Given the description of an element on the screen output the (x, y) to click on. 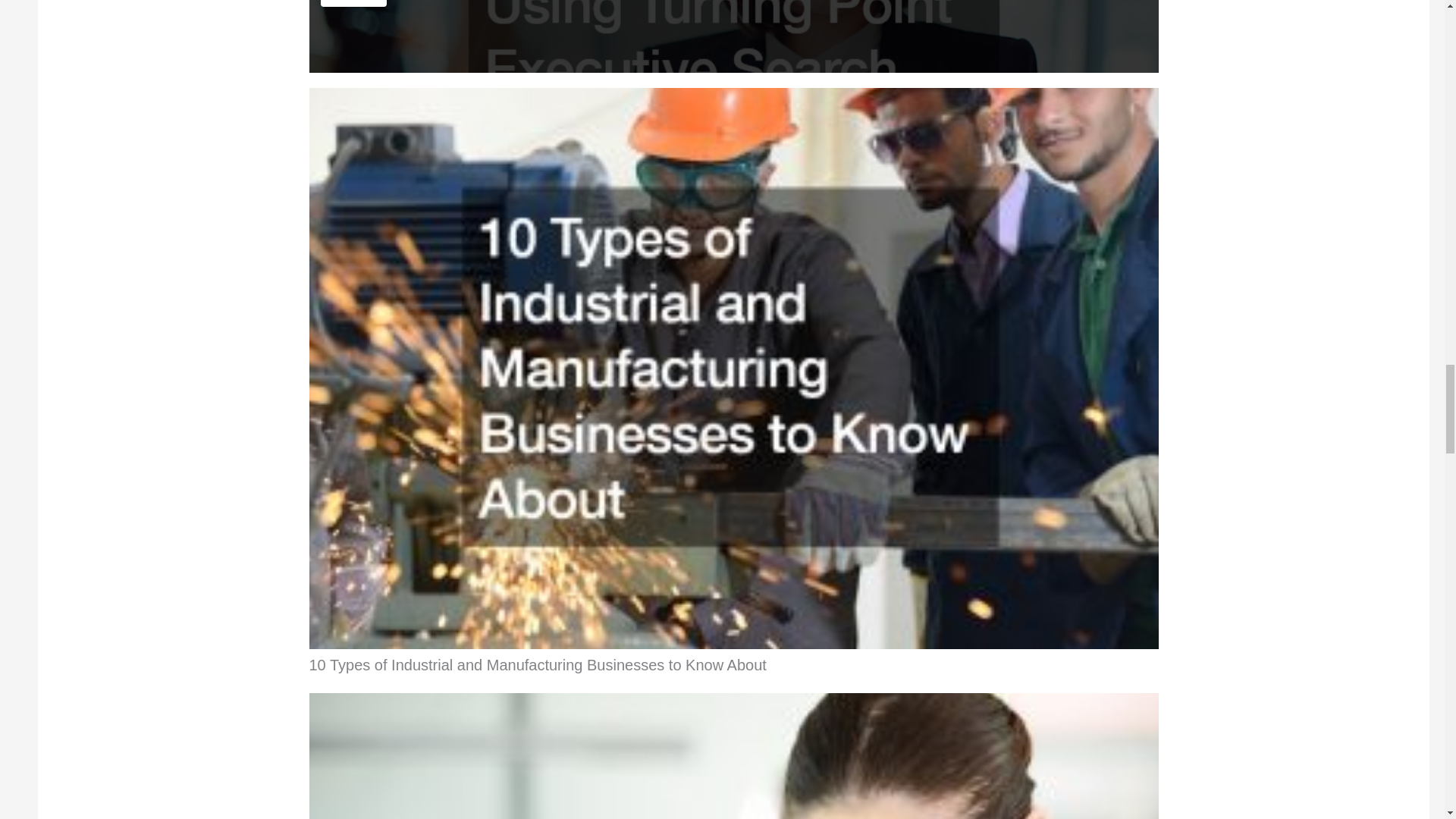
Read More (352, 3)
